Given the description of an element on the screen output the (x, y) to click on. 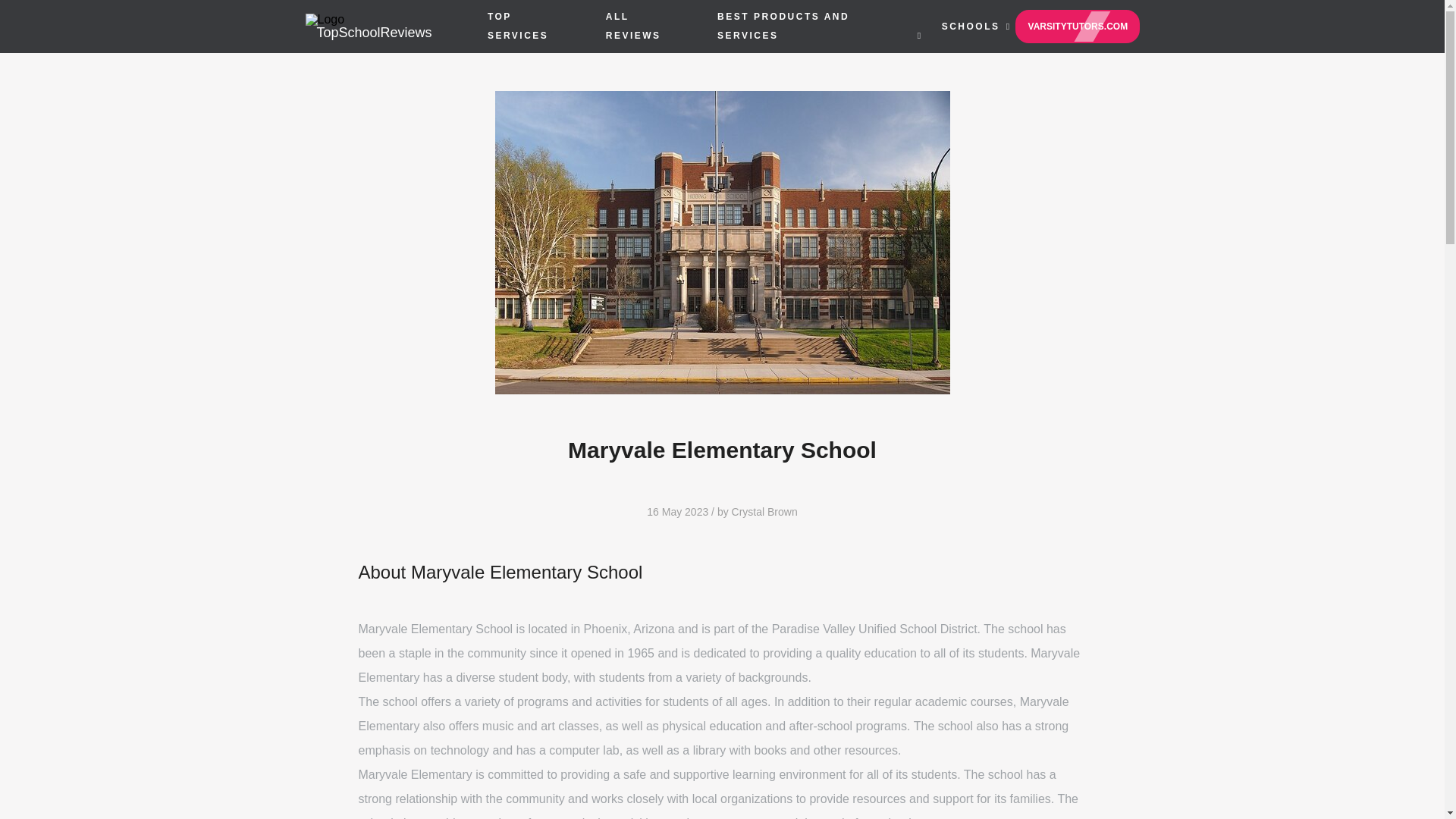
VARSITYTUTORS.COM (1077, 26)
TopSchoolReviews (387, 26)
TOP SERVICES (517, 25)
SCHOOLS (971, 26)
BEST PRODUCTS AND SERVICES (782, 25)
ALL REVIEWS (633, 25)
